Given the description of an element on the screen output the (x, y) to click on. 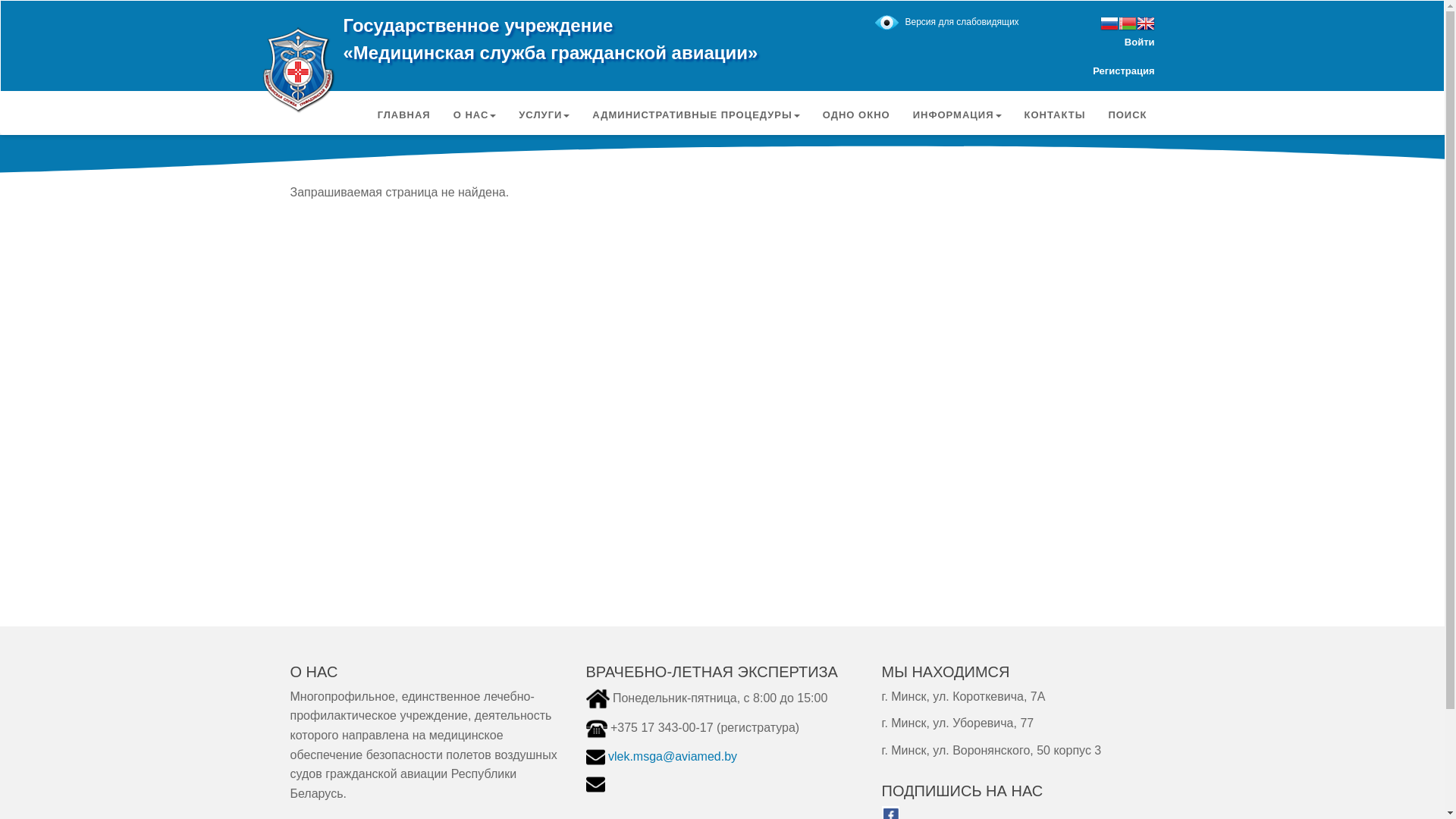
English Element type: hover (1144, 24)
Russian Element type: hover (1108, 24)
vlek.msga@aviamed.by Element type: text (672, 755)
Belarusian Element type: hover (1126, 24)
